Given the description of an element on the screen output the (x, y) to click on. 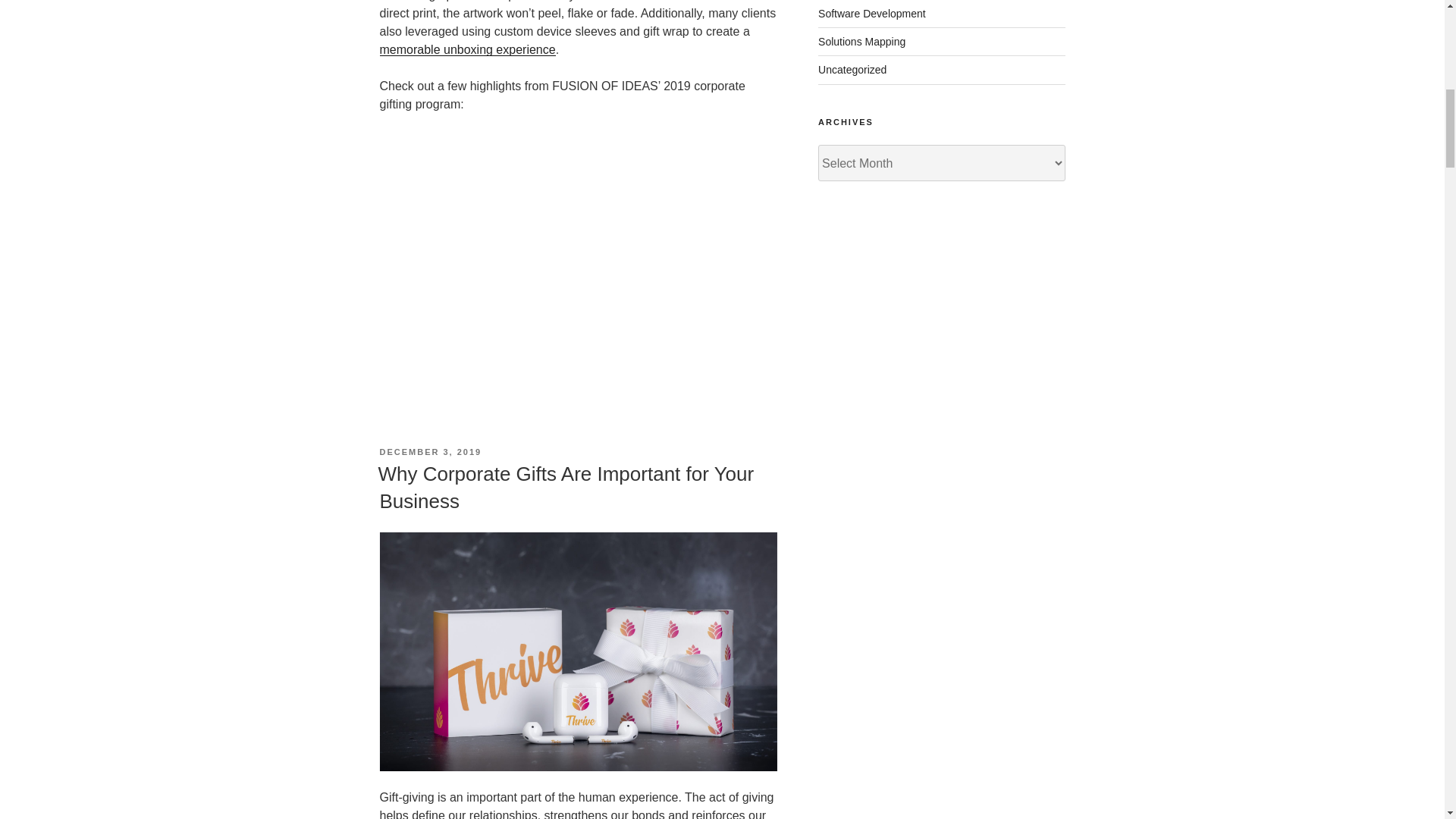
DECEMBER 3, 2019 (429, 451)
memorable unboxing experience (466, 49)
Why Corporate Gifts Are Important for Your Business (565, 487)
